Given the description of an element on the screen output the (x, y) to click on. 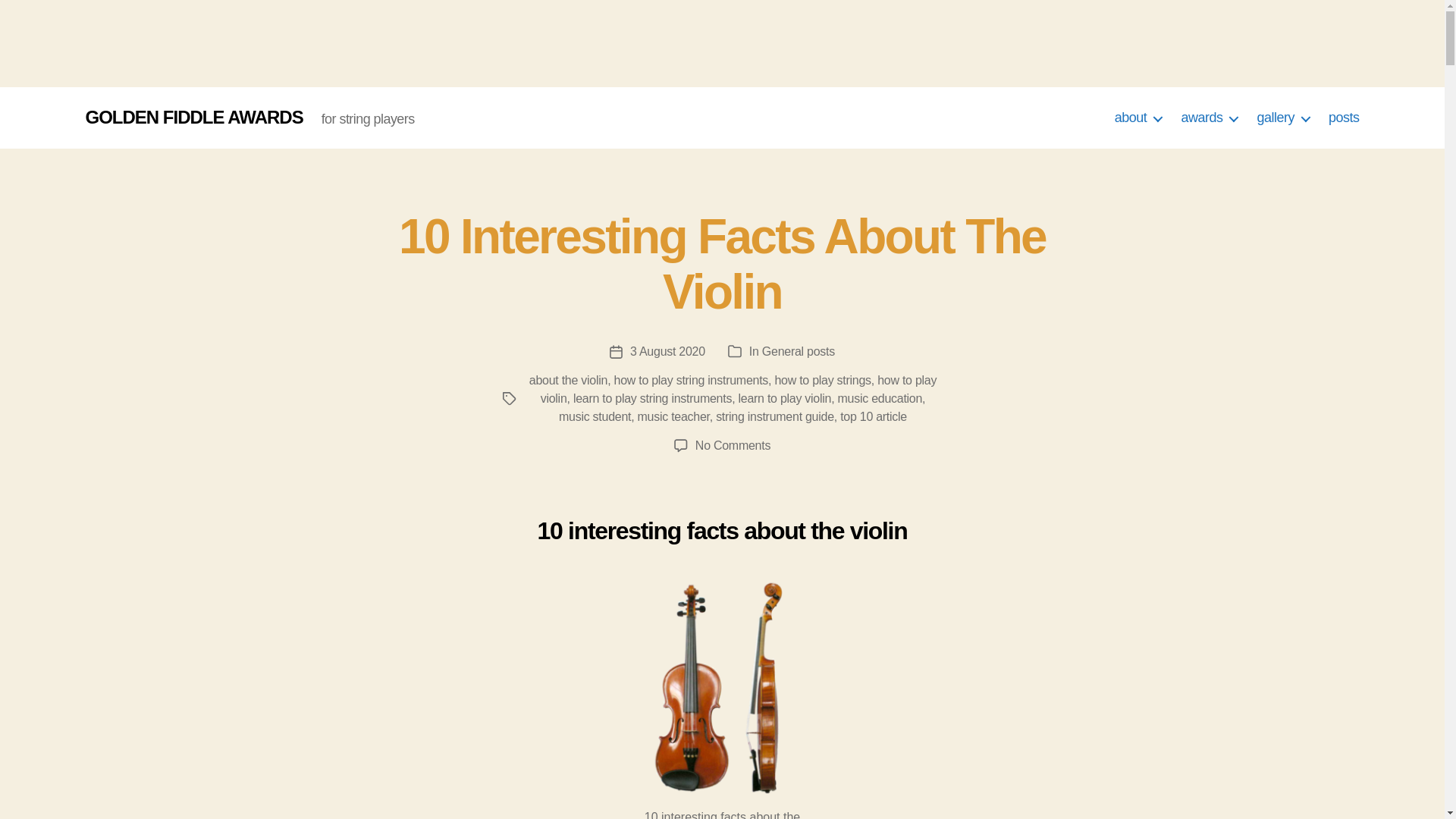
10 Interesting Facts About The Violin (721, 264)
music teacher (673, 416)
learn to play violin (784, 398)
string instrument guide (775, 416)
how to play strings (822, 379)
learn to play string instruments (652, 398)
General posts (797, 350)
top 10 article (873, 416)
3 August 2020 (667, 350)
posts (1343, 117)
how to play string instruments (691, 379)
how to play violin (738, 388)
about (1138, 117)
music student (594, 416)
gallery (1282, 117)
